Given the description of an element on the screen output the (x, y) to click on. 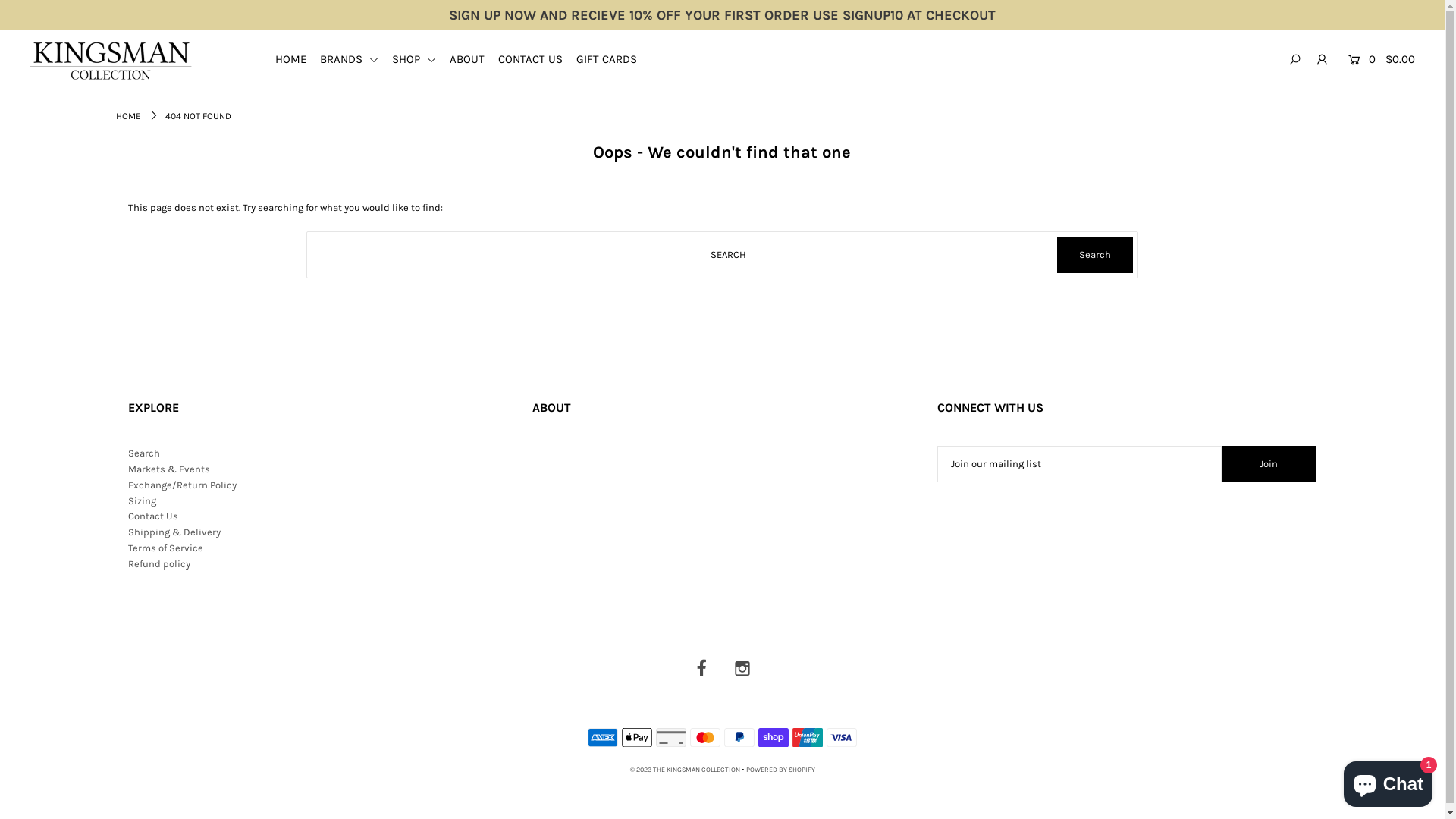
HOME Element type: text (296, 58)
SHOP Element type: text (419, 58)
HOME Element type: text (127, 115)
Markets & Events Element type: text (169, 468)
Shopify online store chat Element type: hover (1388, 780)
BRANDS Element type: text (354, 58)
Search Element type: text (1094, 254)
POWERED BY SHOPIFY Element type: text (780, 769)
CONTACT US Element type: text (536, 58)
Exchange/Return Policy Element type: text (182, 484)
  0  $0.00 Element type: text (1379, 59)
Terms of Service Element type: text (165, 547)
Search Element type: text (144, 452)
Contact Us Element type: text (153, 515)
Shipping & Delivery Element type: text (174, 531)
GIFT CARDS Element type: text (612, 58)
Sizing Element type: text (142, 500)
Refund policy Element type: text (159, 563)
Join Element type: text (1268, 463)
ABOUT Element type: text (472, 58)
